Given the description of an element on the screen output the (x, y) to click on. 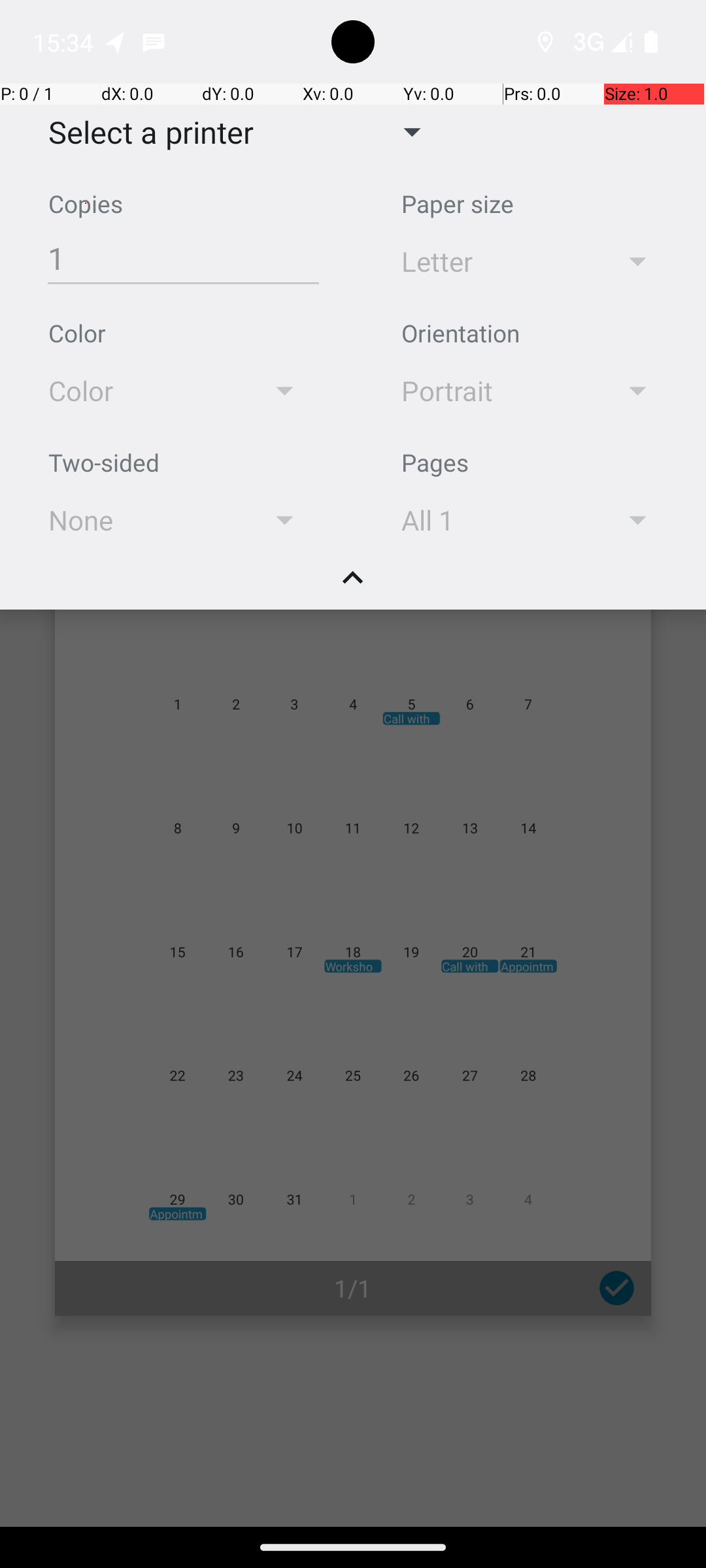
Copies Element type: android.widget.TextView (85, 203)
Paper size Element type: android.widget.TextView (457, 203)
Orientation Element type: android.widget.TextView (460, 332)
Two-sided Element type: android.widget.TextView (103, 461)
Pages Element type: android.widget.TextView (434, 461)
Collapse handle Element type: android.widget.FrameLayout (353, 585)
Select a printer Element type: android.widget.TextView (140, 131)
Letter Element type: android.widget.CheckedTextView (491, 261)
Portrait Element type: android.widget.CheckedTextView (491, 390)
All 1 Element type: android.widget.CheckedTextView (491, 519)
Page 1 of 1 Element type: android.widget.CompoundButton (352, 902)
1/1 Element type: android.widget.TextView (352, 1287)
